Given the description of an element on the screen output the (x, y) to click on. 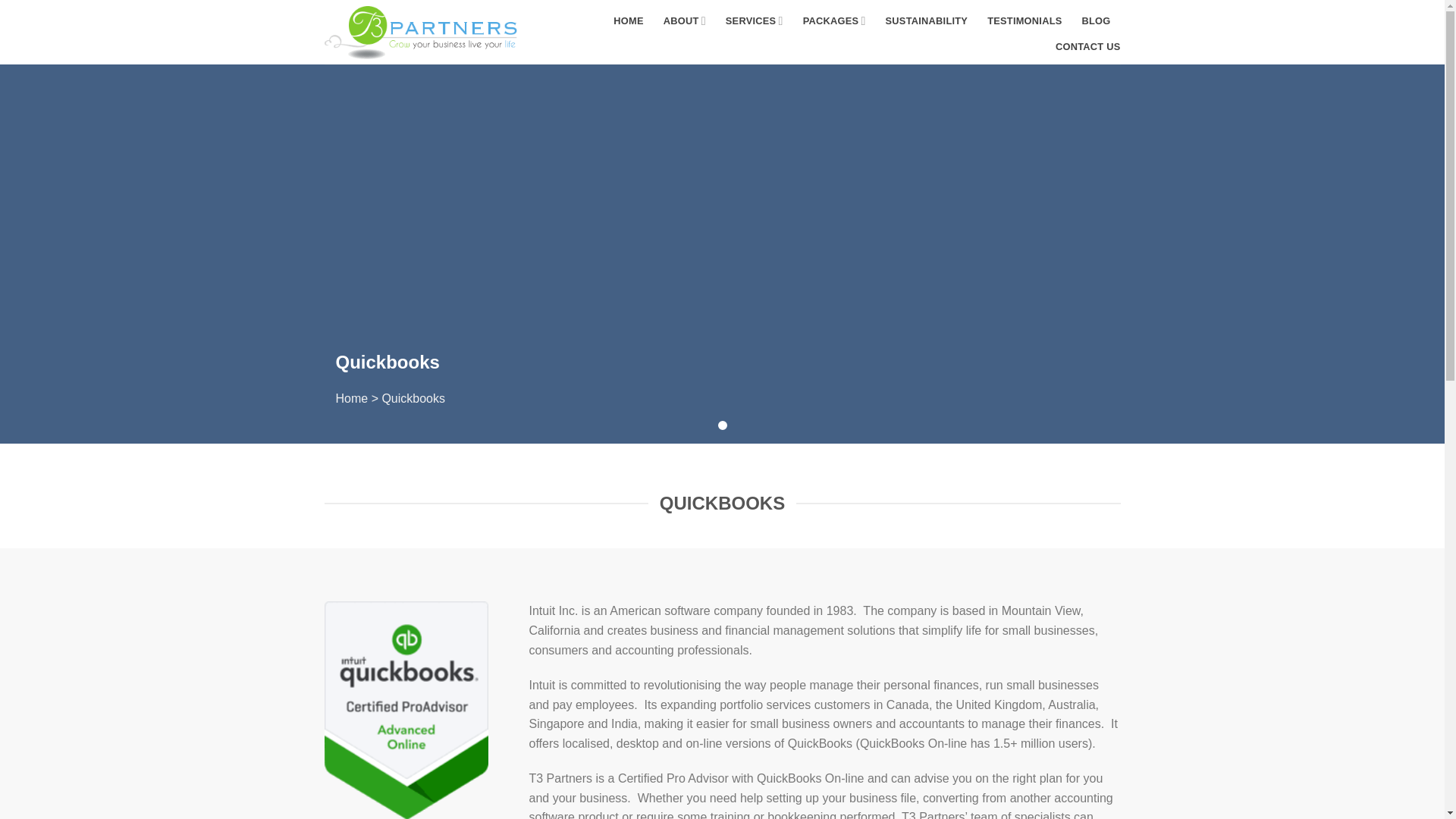
TESTIMONIALS (1024, 20)
PACKAGES (834, 20)
HOME (627, 20)
Home (351, 398)
SUSTAINABILITY (926, 20)
ABOUT (684, 20)
CONTACT US (1088, 46)
SERVICES (754, 20)
BLOG (1095, 20)
